Given the description of an element on the screen output the (x, y) to click on. 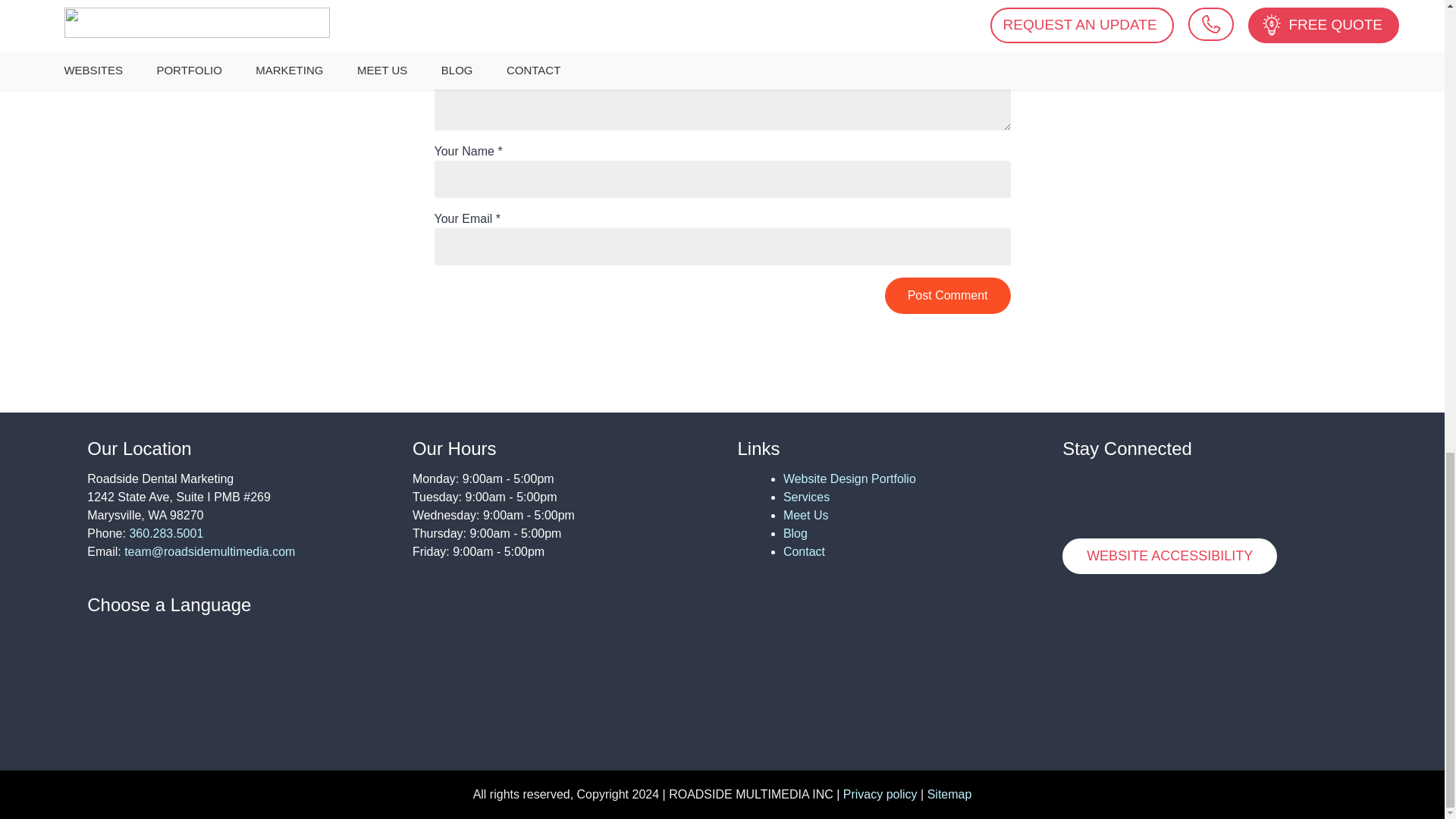
Post Comment (947, 295)
Post Comment (947, 295)
